Given the description of an element on the screen output the (x, y) to click on. 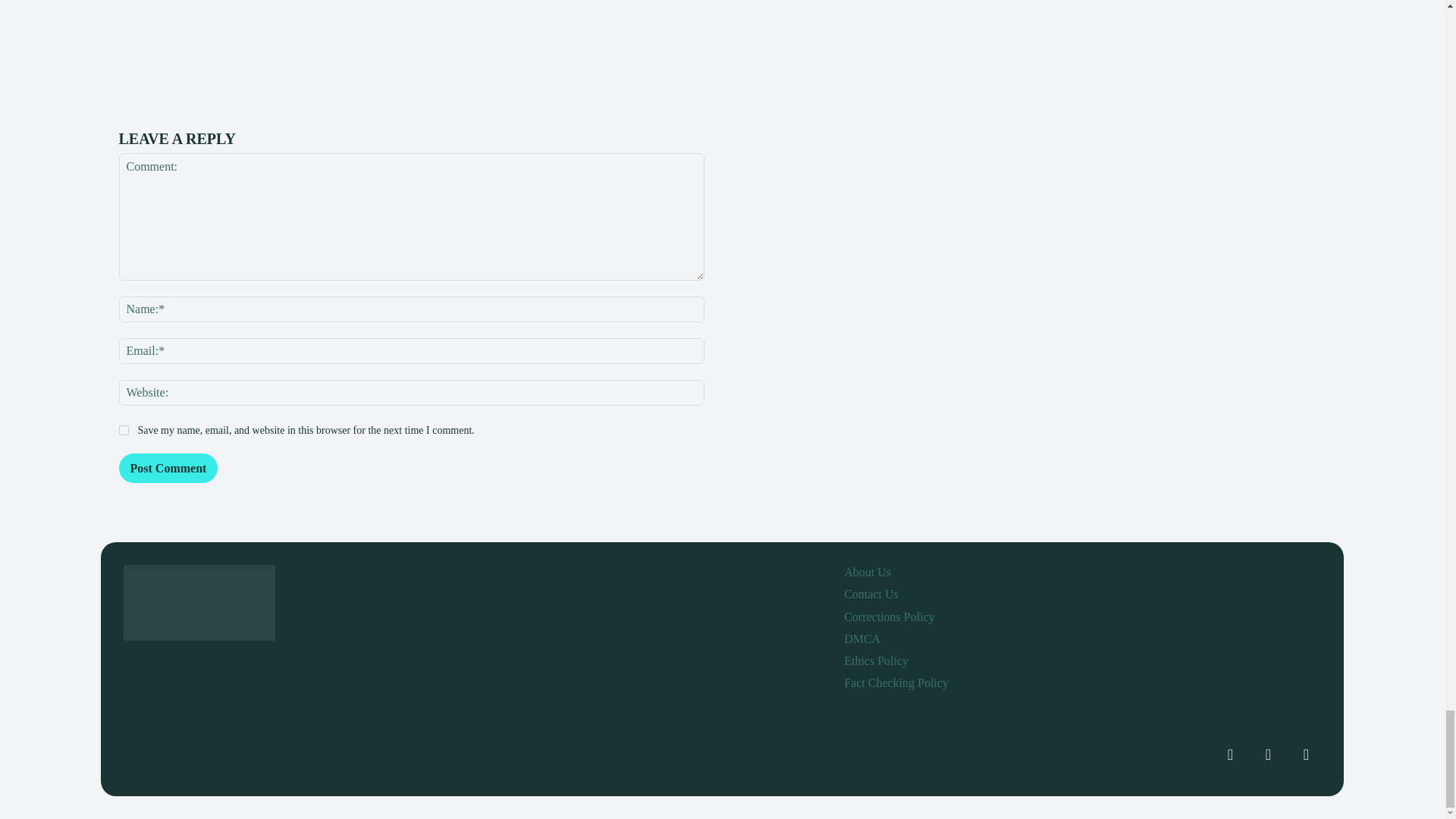
yes (122, 429)
Post Comment (166, 468)
